Given the description of an element on the screen output the (x, y) to click on. 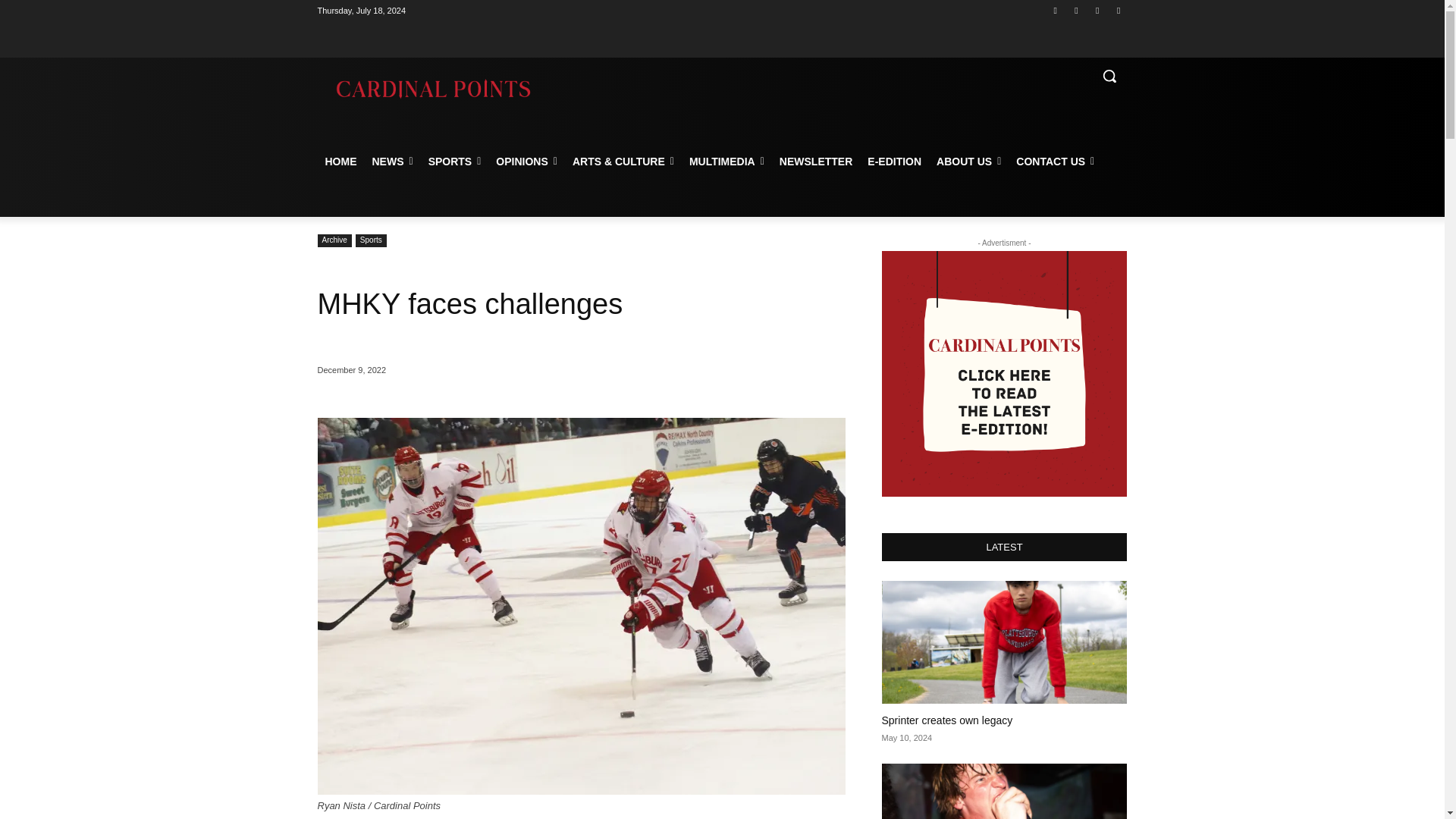
HOME (340, 161)
Youtube (1117, 9)
Facebook (1055, 9)
NEWS (392, 161)
SPORTS (454, 161)
Instagram (1075, 9)
Twitter (1097, 9)
